Given the description of an element on the screen output the (x, y) to click on. 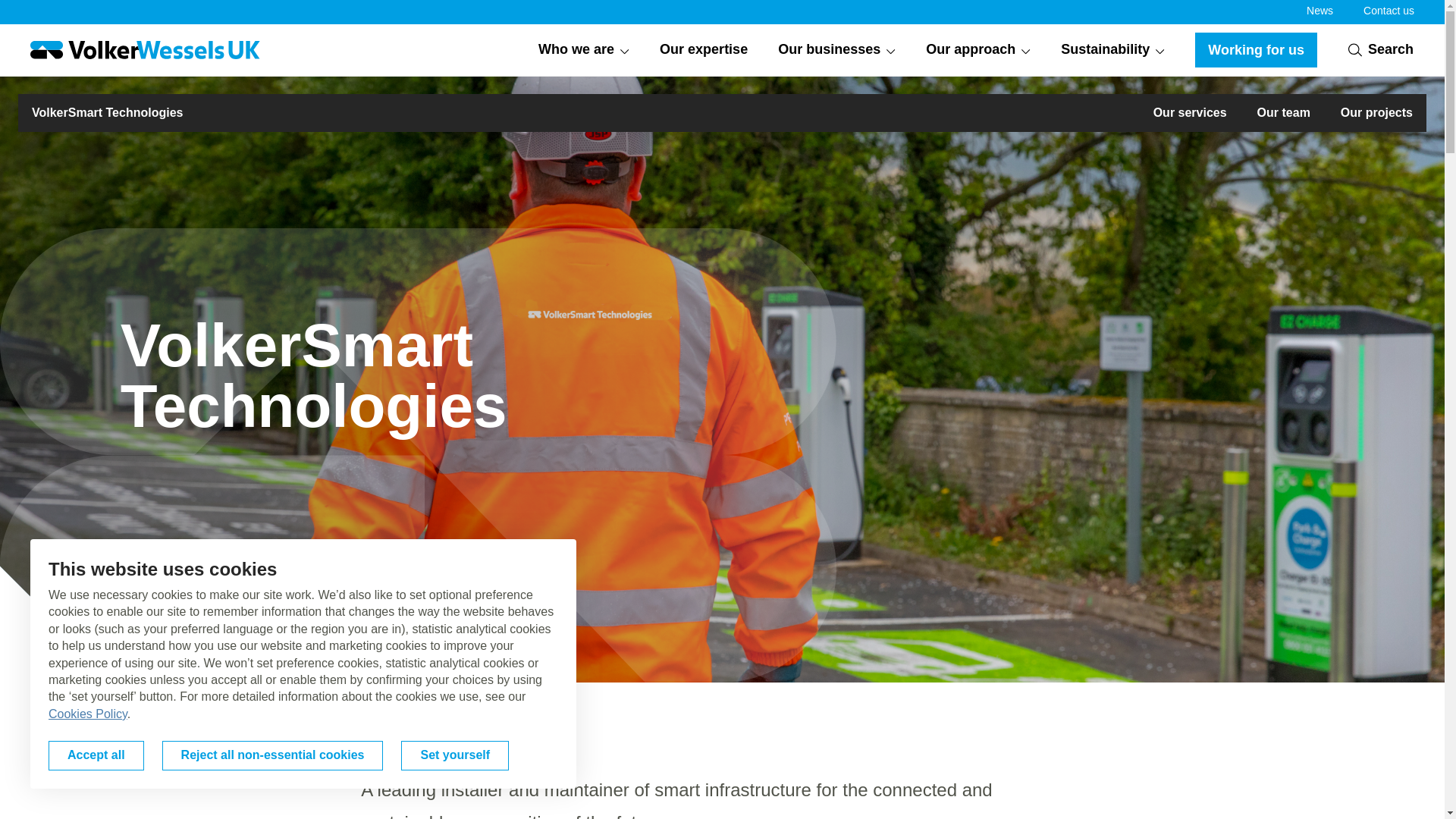
Sustainability (1112, 50)
News (1319, 10)
Our businesses (836, 50)
Contact us (1387, 10)
Who we are (583, 50)
Working for us (1256, 49)
Search (1380, 49)
Our approach (978, 50)
Our expertise (703, 50)
